Given the description of an element on the screen output the (x, y) to click on. 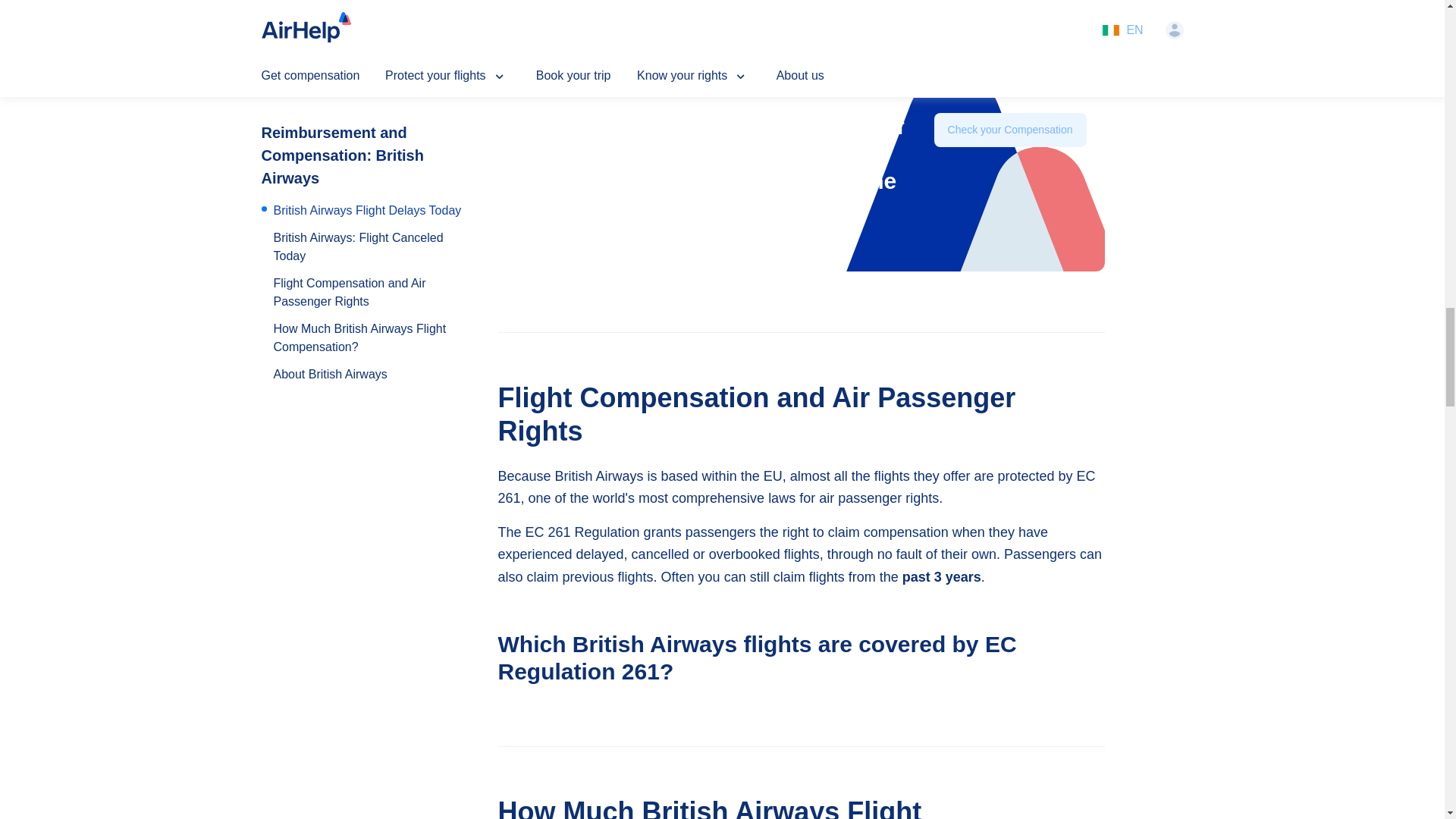
Check your Compensation (1010, 130)
here (924, 61)
Check your Compensation (1010, 167)
